Given the description of an element on the screen output the (x, y) to click on. 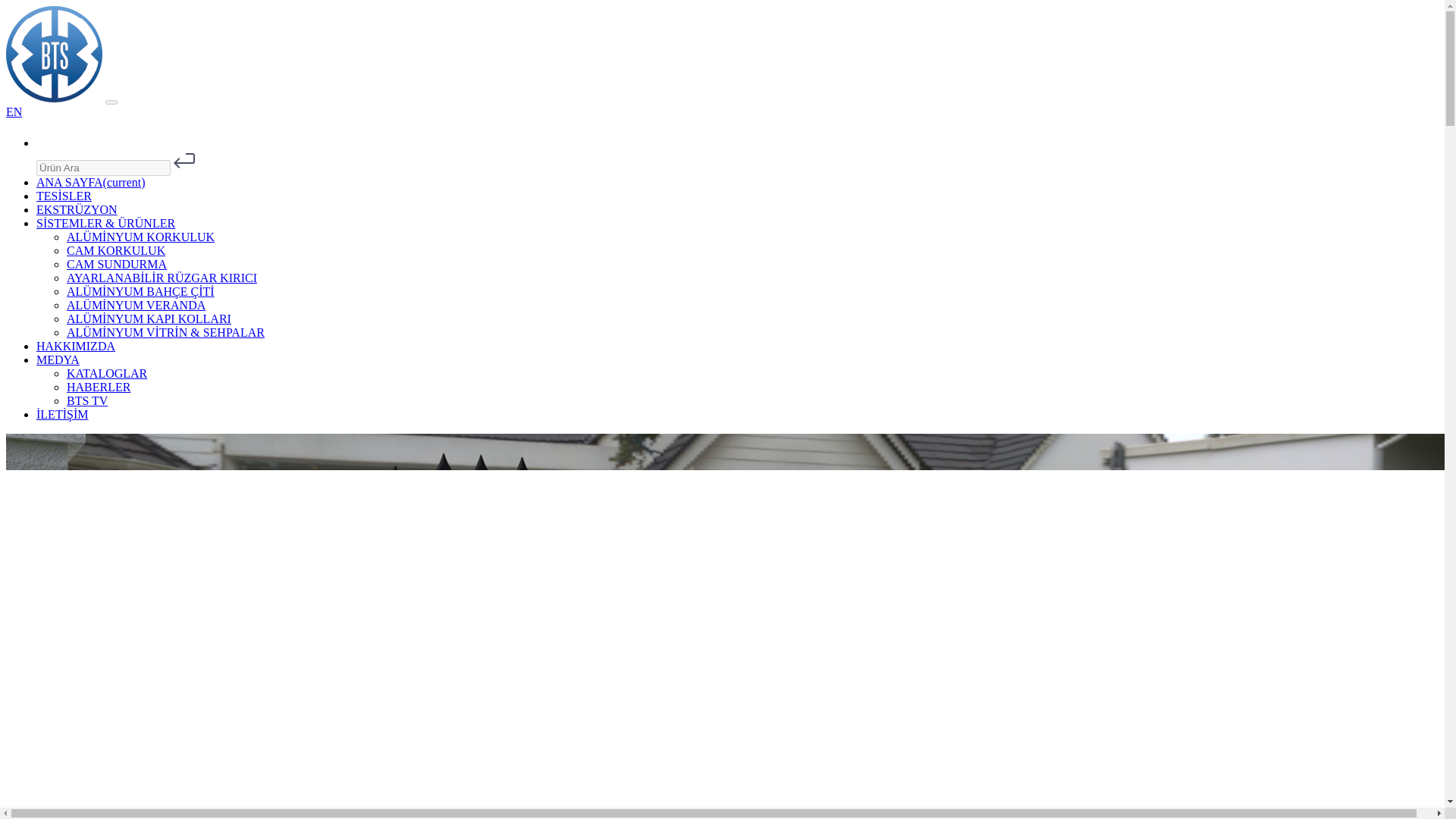
CAM SUNDURMA (116, 264)
HAKKIMIZDA (75, 345)
HABERLER (98, 386)
CAM KORKULUK (115, 250)
EN (13, 111)
BTS TV (86, 400)
KATALOGLAR (106, 373)
MEDYA (58, 359)
